Given the description of an element on the screen output the (x, y) to click on. 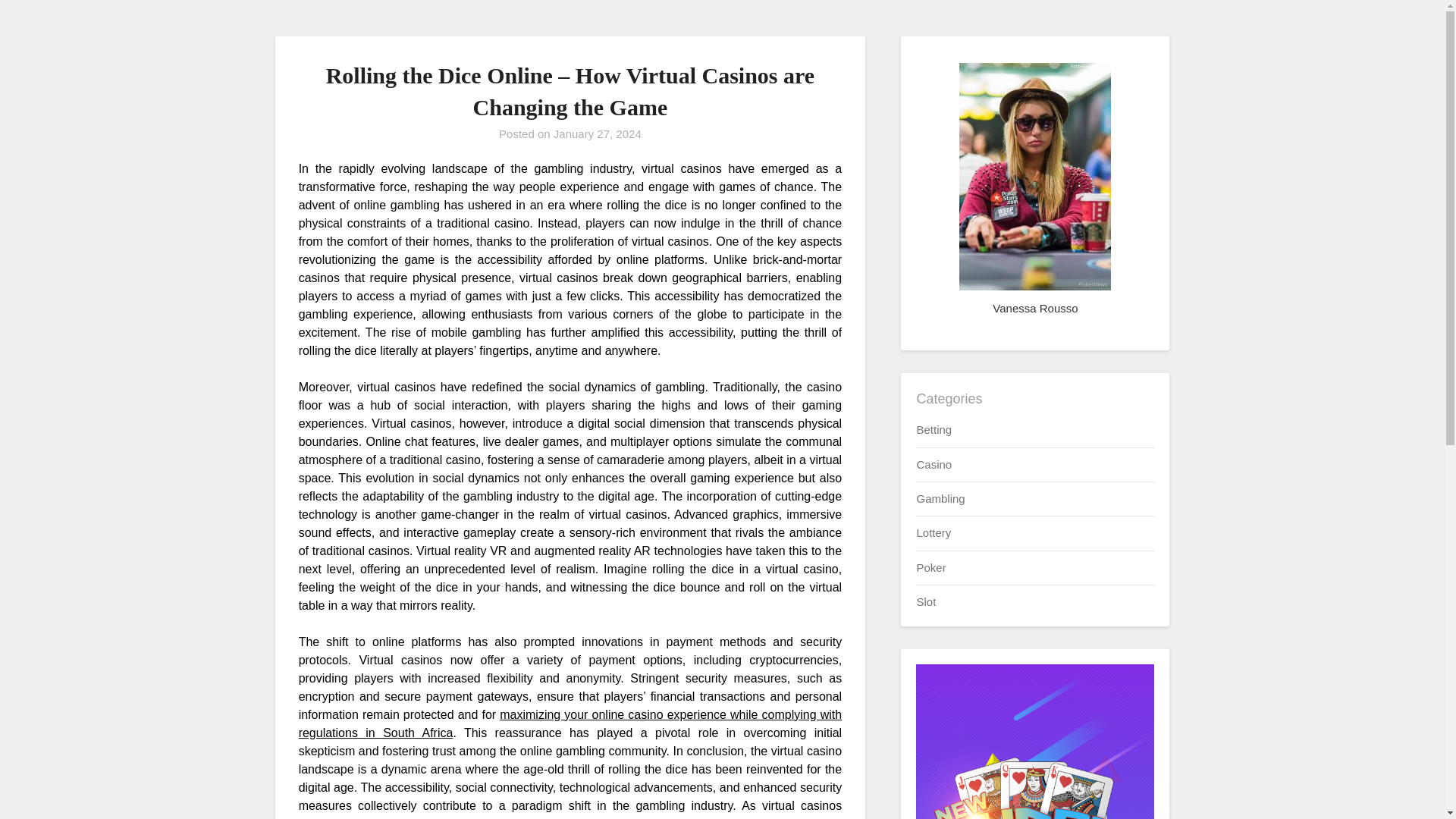
Lottery (932, 532)
Poker (929, 567)
Slot (925, 601)
Gambling (939, 498)
January 27, 2024 (597, 133)
Casino (933, 463)
Betting (933, 429)
